Given the description of an element on the screen output the (x, y) to click on. 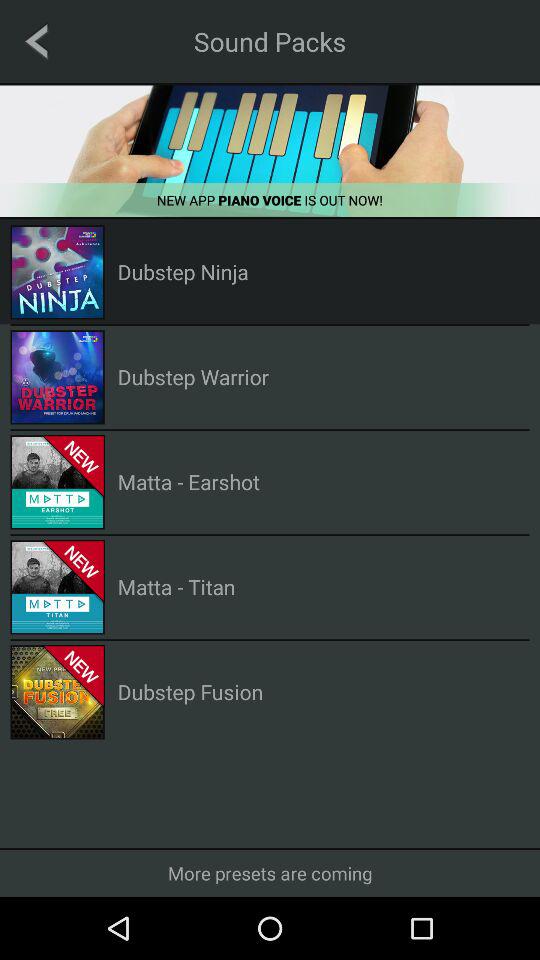
go to previous page (36, 41)
